Given the description of an element on the screen output the (x, y) to click on. 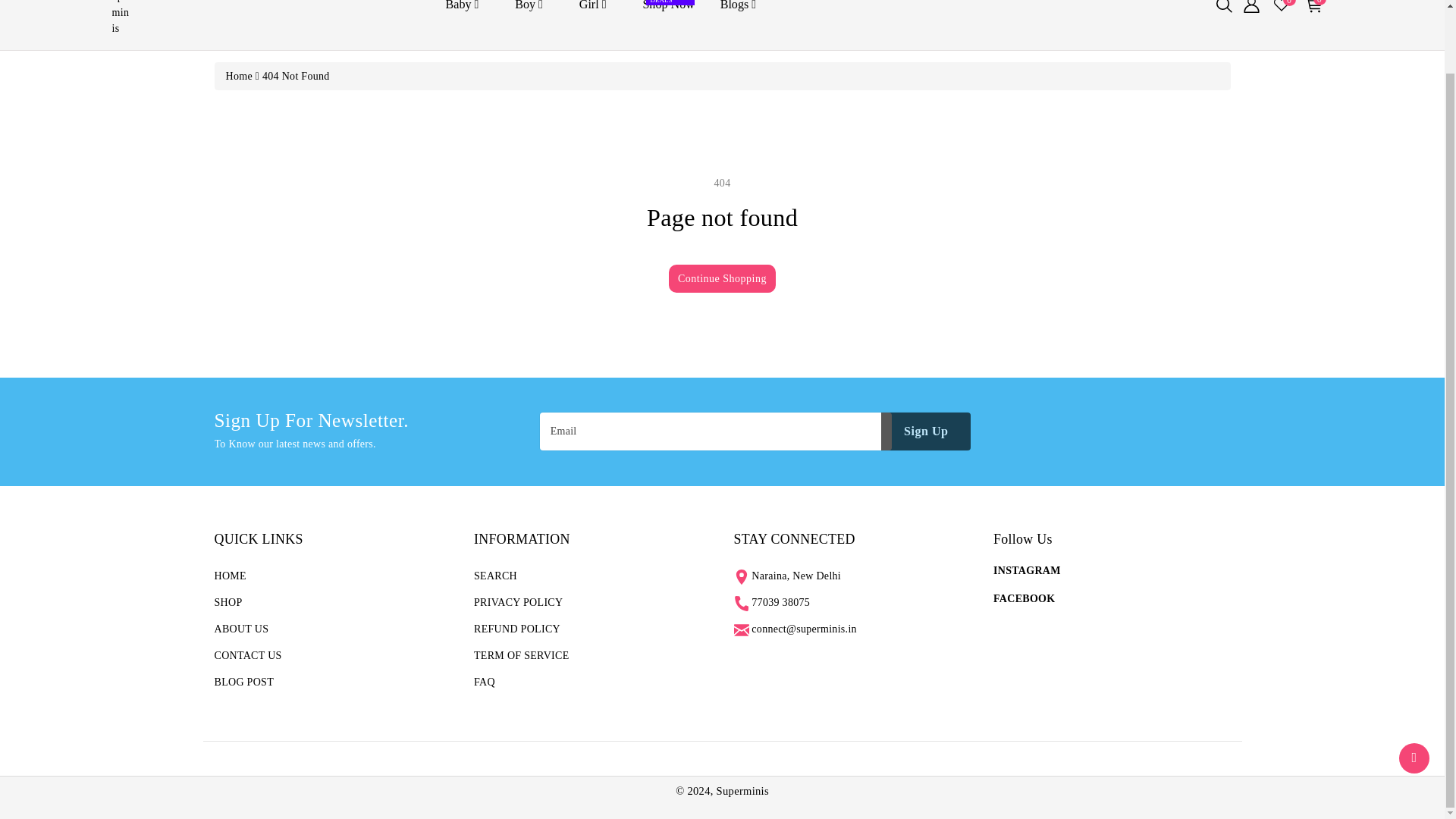
Instagram Handle (1026, 570)
Home (238, 75)
Facebook handle (467, 11)
Scroll to top (1023, 598)
